Given the description of an element on the screen output the (x, y) to click on. 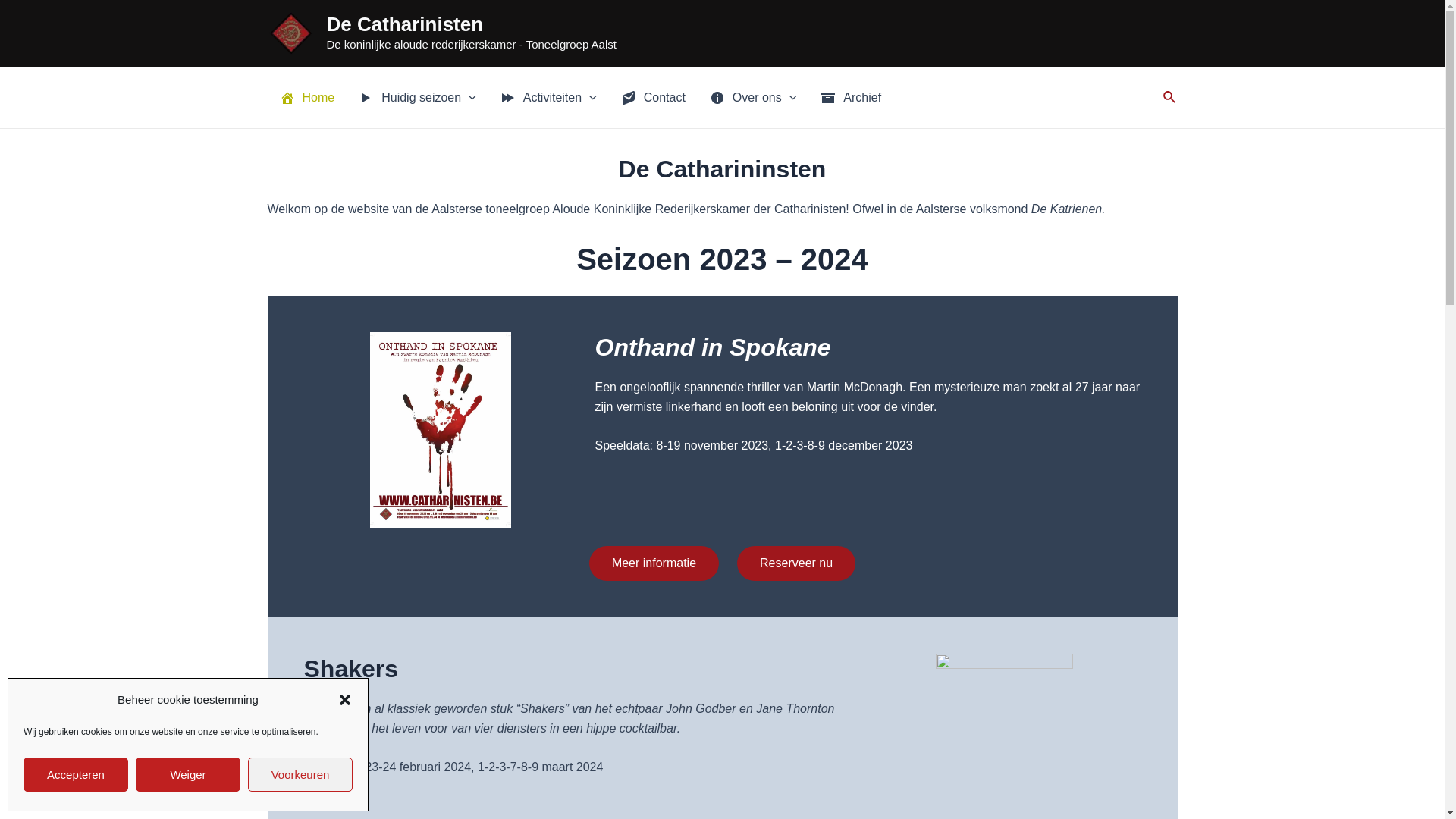
Reserveer nu Element type: text (796, 563)
De Catharinisten Element type: text (404, 23)
Home Element type: text (306, 97)
Activiteiten Element type: text (548, 97)
Archief Element type: text (850, 97)
Zoeken Element type: text (1169, 97)
Huidig seizoen Element type: text (417, 97)
Voorkeuren Element type: text (299, 774)
Meer informatie Element type: text (653, 563)
Accepteren Element type: text (75, 774)
Over ons Element type: text (753, 97)
Contact Element type: text (652, 97)
Weiger Element type: text (187, 774)
